Given the description of an element on the screen output the (x, y) to click on. 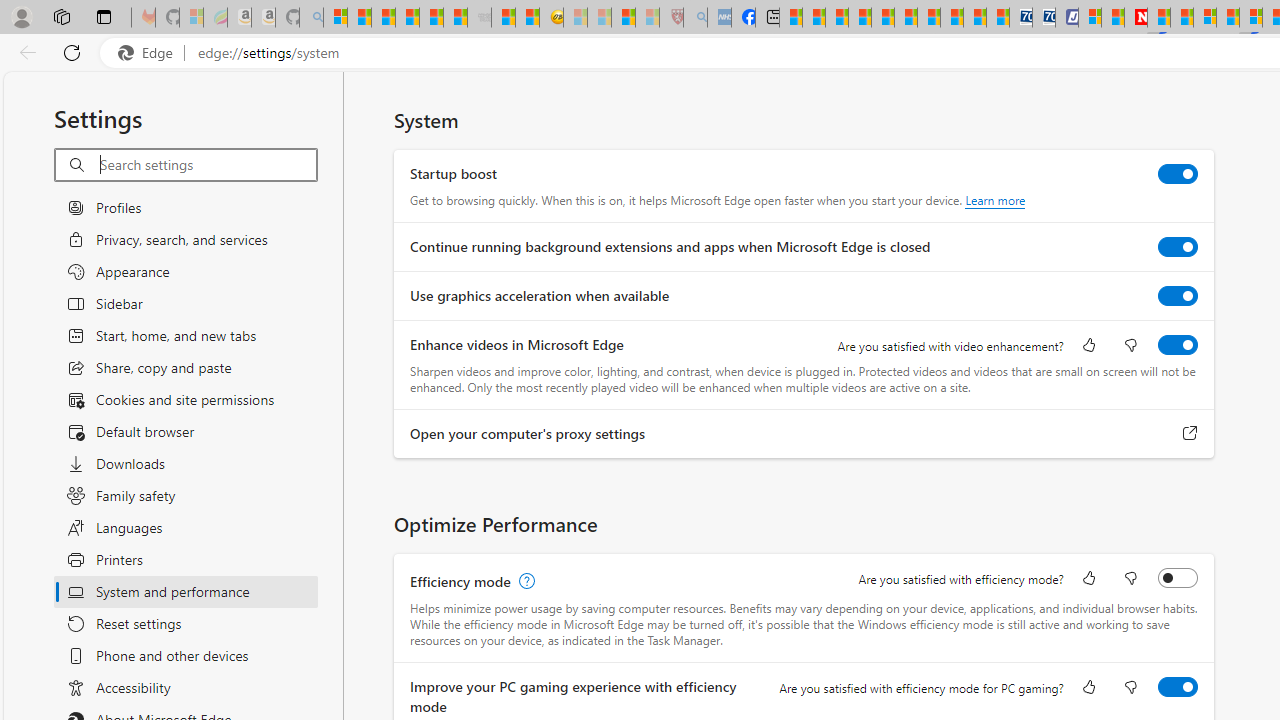
Cheap Car Rentals - Save70.com (1020, 17)
Climate Damage Becomes Too Severe To Reverse (859, 17)
Combat Siege - Sleeping (479, 17)
